Given the description of an element on the screen output the (x, y) to click on. 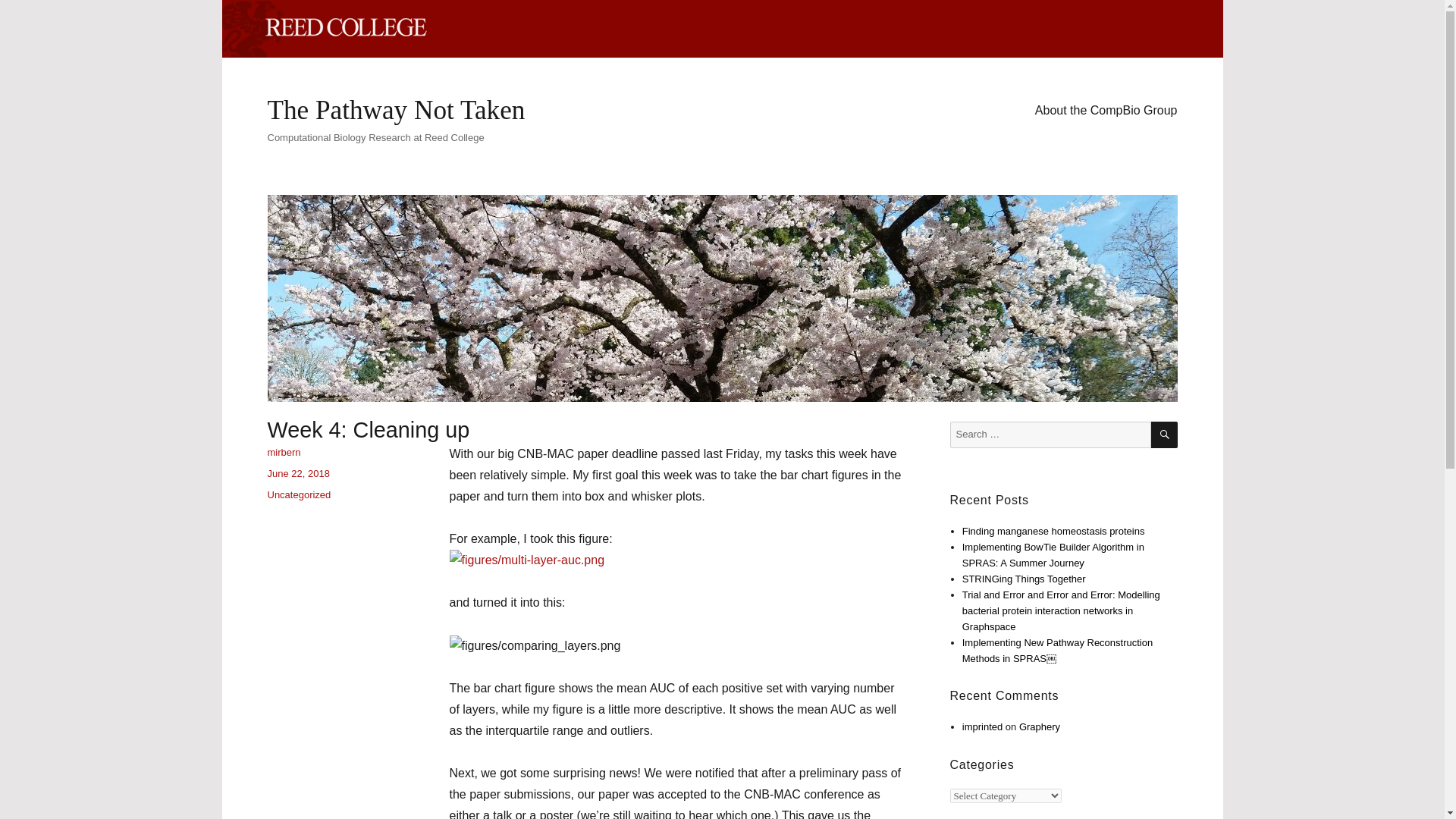
mirbern (282, 451)
June 22, 2018 (297, 473)
About the CompBio Group (1106, 110)
Finding manganese homeostasis proteins (1053, 531)
SEARCH (1164, 434)
STRINGing Things Together (1024, 578)
imprinted (982, 726)
Uncategorized (298, 494)
The Pathway Not Taken (395, 110)
Graphery (1039, 726)
